Given the description of an element on the screen output the (x, y) to click on. 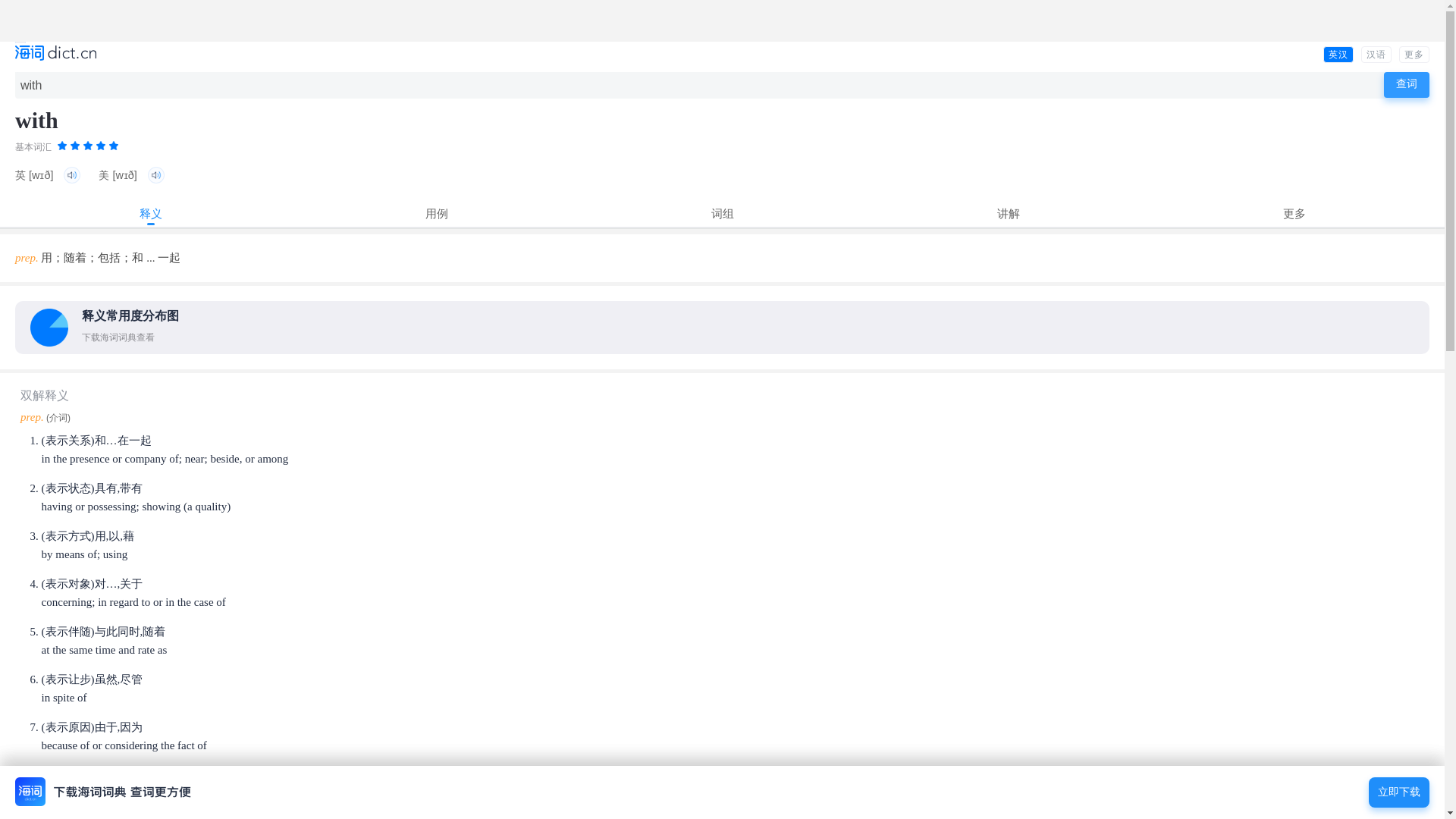
with (700, 85)
